Given the description of an element on the screen output the (x, y) to click on. 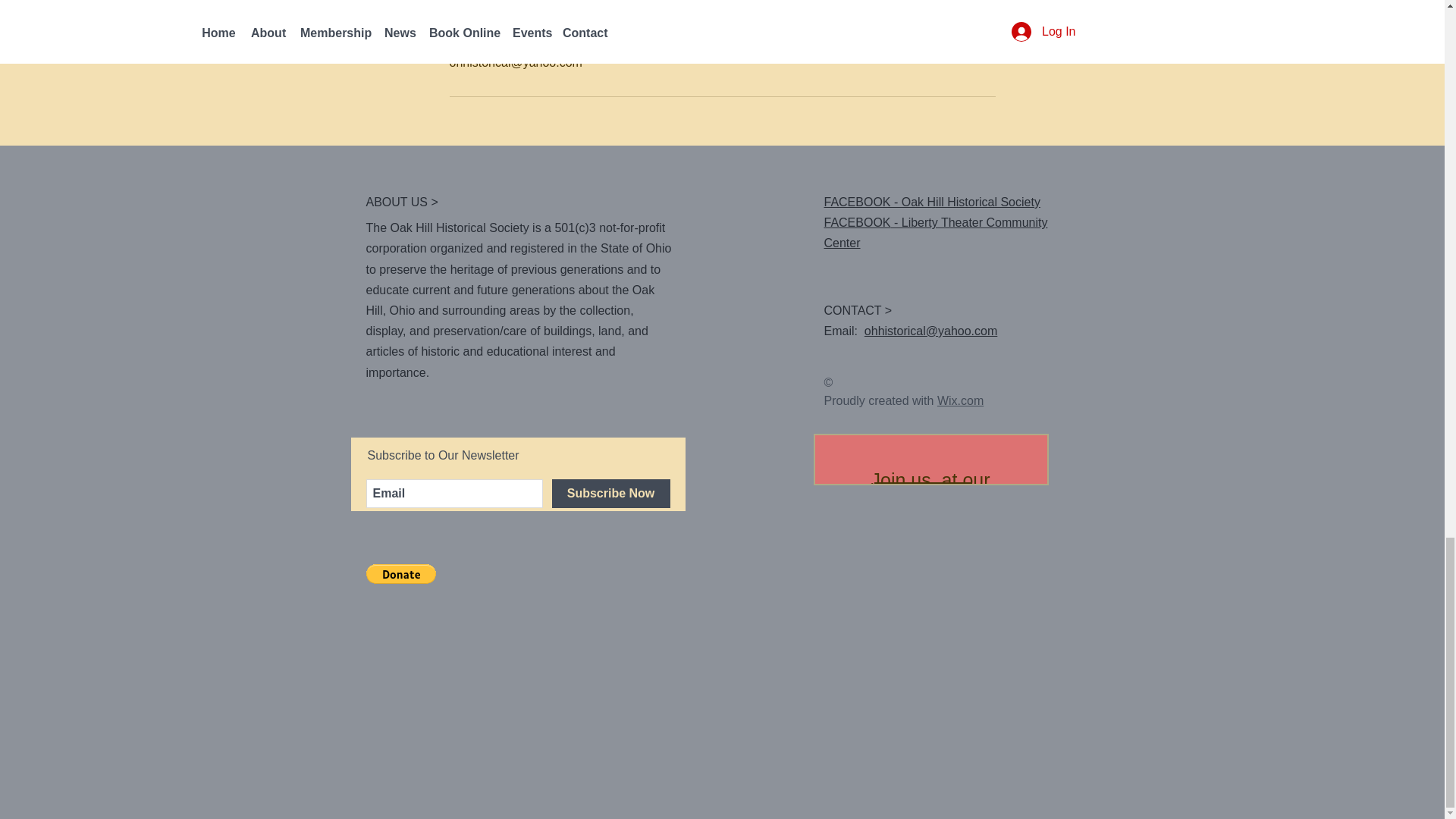
Subscribe Now (610, 493)
Wix.com (960, 400)
FACEBOOK (856, 222)
FACEBOOK - Oak Hill Historical Society (931, 201)
